Given the description of an element on the screen output the (x, y) to click on. 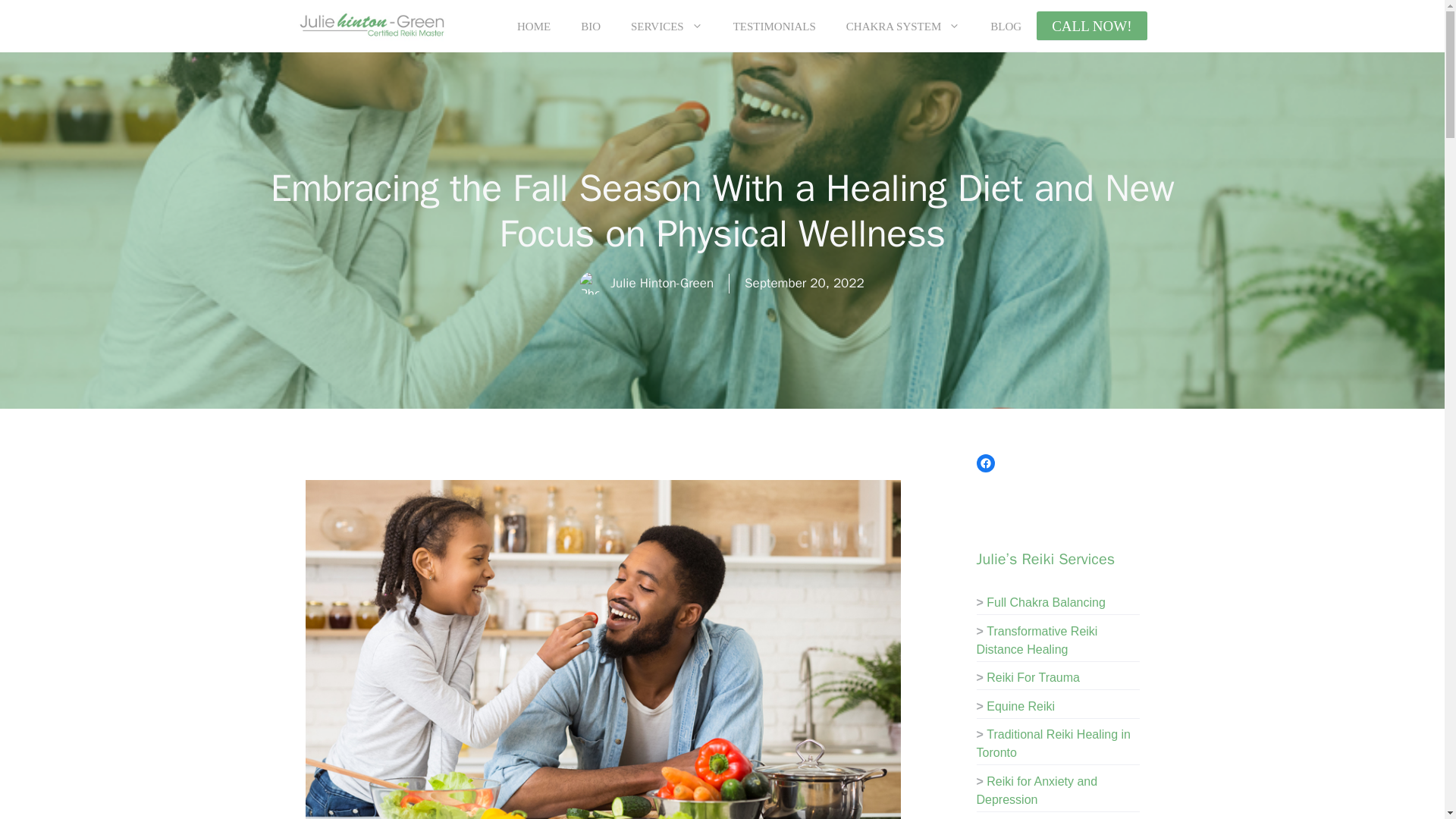
HOME (534, 26)
SERVICES (666, 26)
BLOG (1005, 26)
TESTIMONIALS (774, 26)
CALL NOW! (1091, 25)
Julie Hinton-Green (371, 25)
BIO (590, 26)
CHAKRA SYSTEM (903, 26)
